Given the description of an element on the screen output the (x, y) to click on. 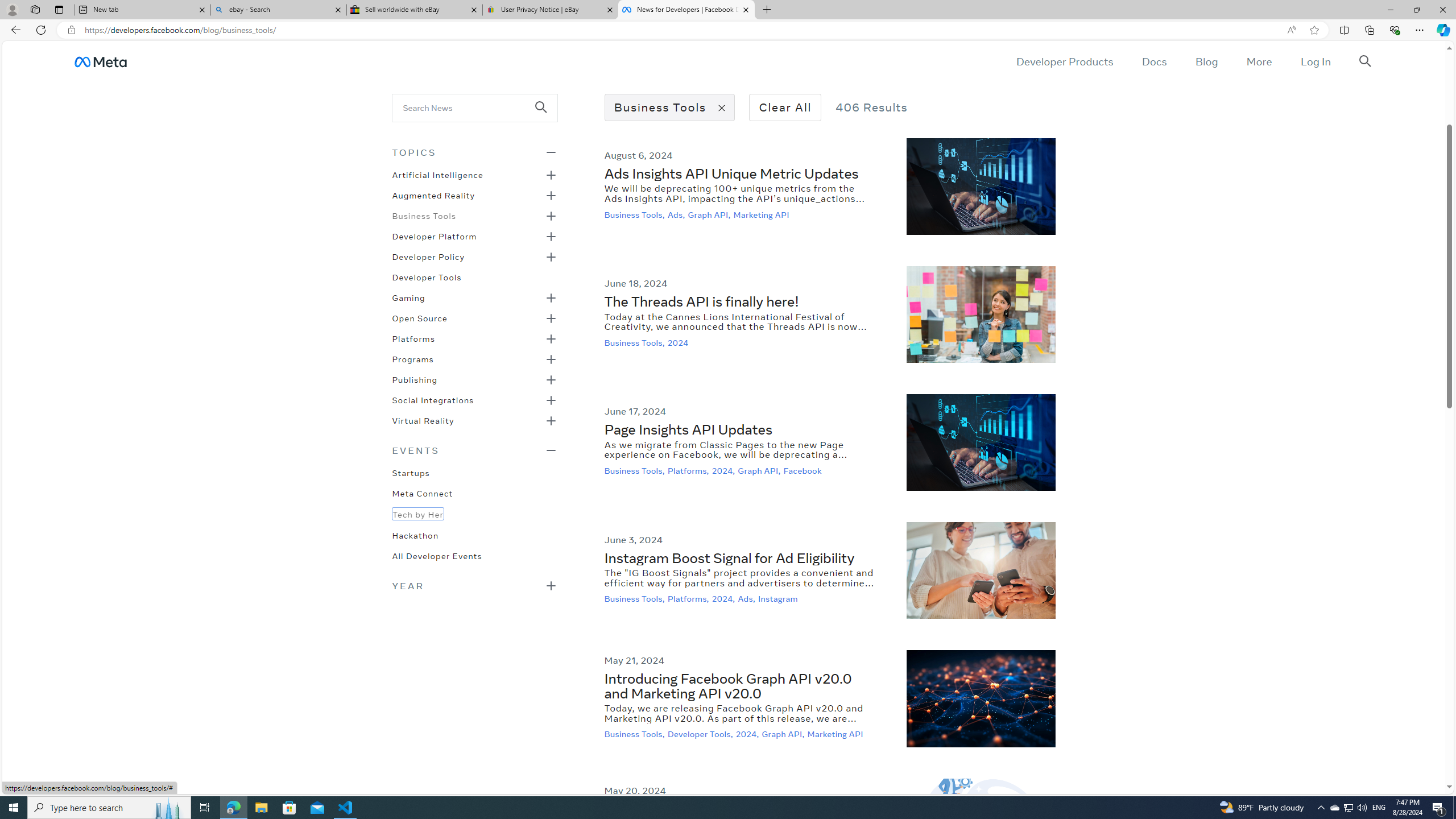
Platforms, (688, 598)
Meta Connect (421, 492)
Class: _98ex (474, 559)
Developer Tools, (700, 733)
Business Tools (423, 214)
Docs (1153, 61)
Developer Tools (426, 276)
Facebook (803, 470)
Developer Policy (428, 255)
